Given the description of an element on the screen output the (x, y) to click on. 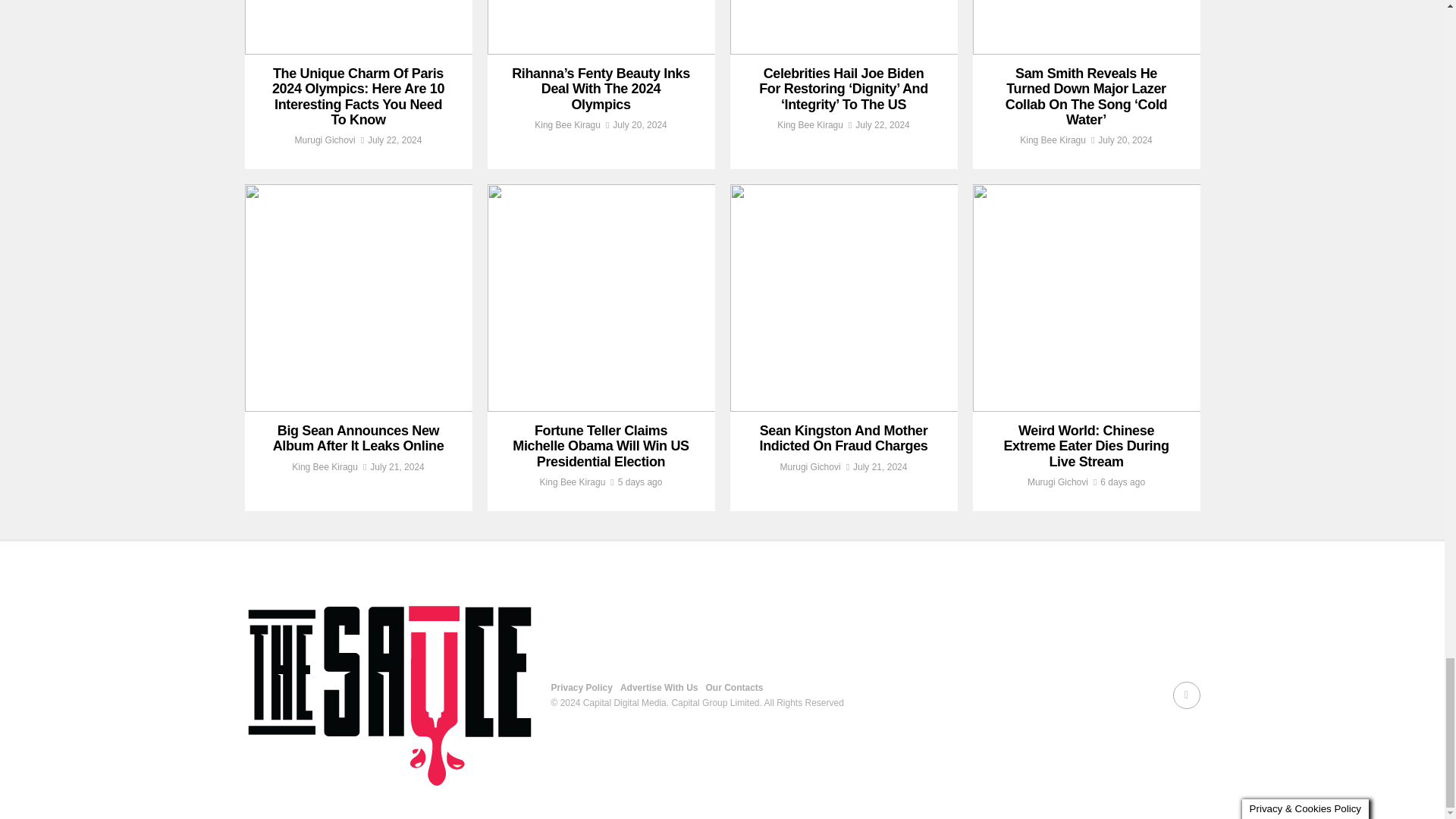
Posts by Murugi Gichovi (325, 140)
Posts by King Bee Kiragu (566, 124)
